Given the description of an element on the screen output the (x, y) to click on. 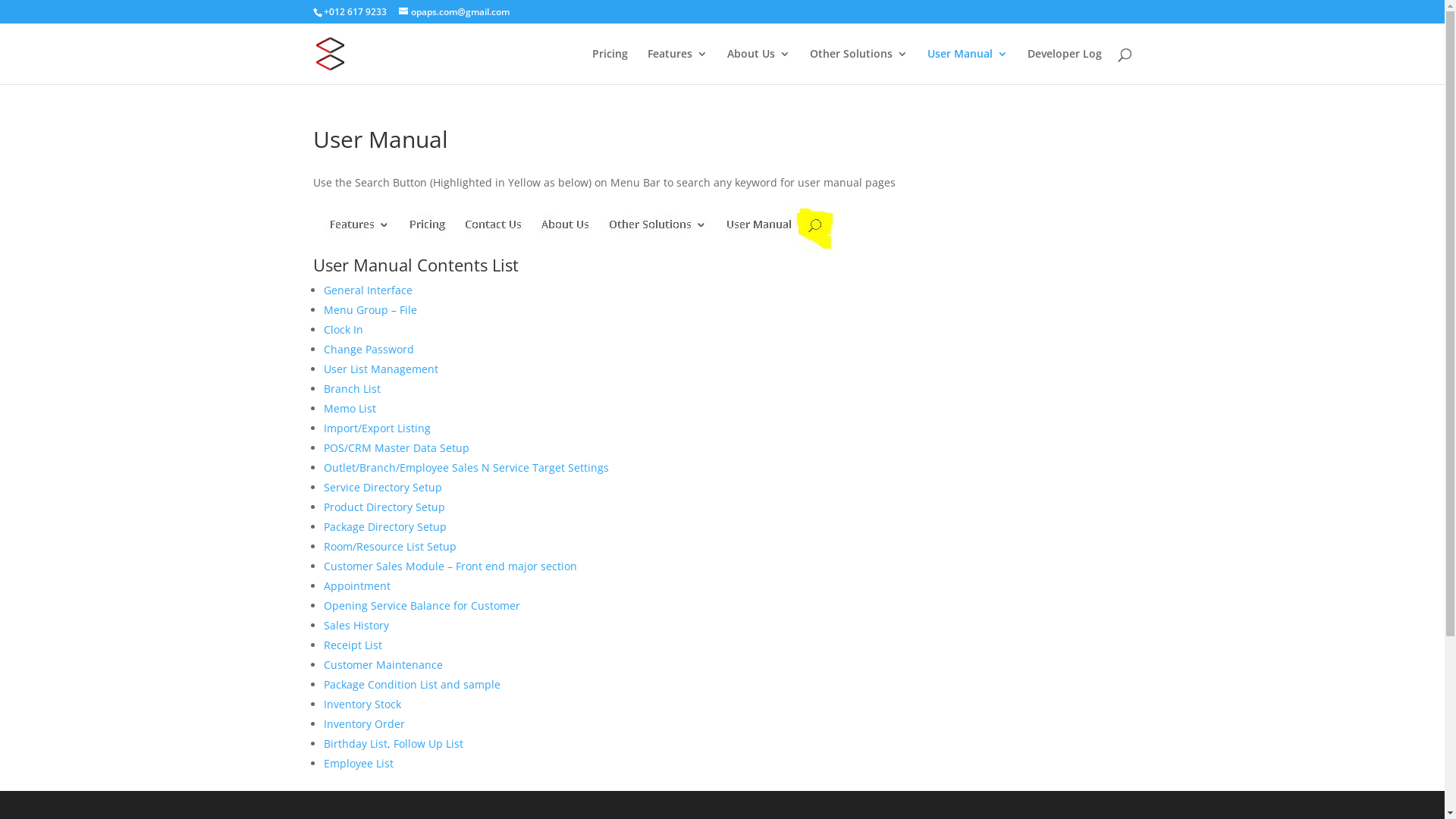
Room/Resource List Setup Element type: text (389, 546)
Clock In  Element type: text (344, 329)
Sales History Element type: text (355, 625)
About Us Element type: text (757, 66)
Import/Export Listing Element type: text (376, 427)
Change Password Element type: text (368, 349)
Service Directory Setup Element type: text (382, 487)
Outlet/Branch/Employee Sales N Service Target Settings Element type: text (465, 467)
Memo List Element type: text (349, 408)
Inventory Stock Element type: text (361, 703)
Employee List Element type: text (357, 763)
User Manual Element type: text (966, 66)
Other Solutions Element type: text (858, 66)
General Interface Element type: text (367, 289)
Birthday List, Follow Up List Element type: text (392, 743)
Product Directory Setup Element type: text (383, 506)
POS/CRM Master Data Setup Element type: text (395, 447)
Developer Log Element type: text (1063, 66)
Inventory Order Element type: text (363, 723)
Package Directory Setup Element type: text (384, 526)
opaps.com@gmail.com Element type: text (453, 11)
Receipt List Element type: text (352, 644)
Features Element type: text (677, 66)
Branch List Element type: text (351, 388)
Customer Maintenance Element type: text (382, 664)
Pricing Element type: text (609, 66)
Opening Service Balance for Customer Element type: text (421, 605)
User List Management Element type: text (380, 368)
Appointment Element type: text (356, 585)
Package Condition List and sample Element type: text (411, 684)
